Given the description of an element on the screen output the (x, y) to click on. 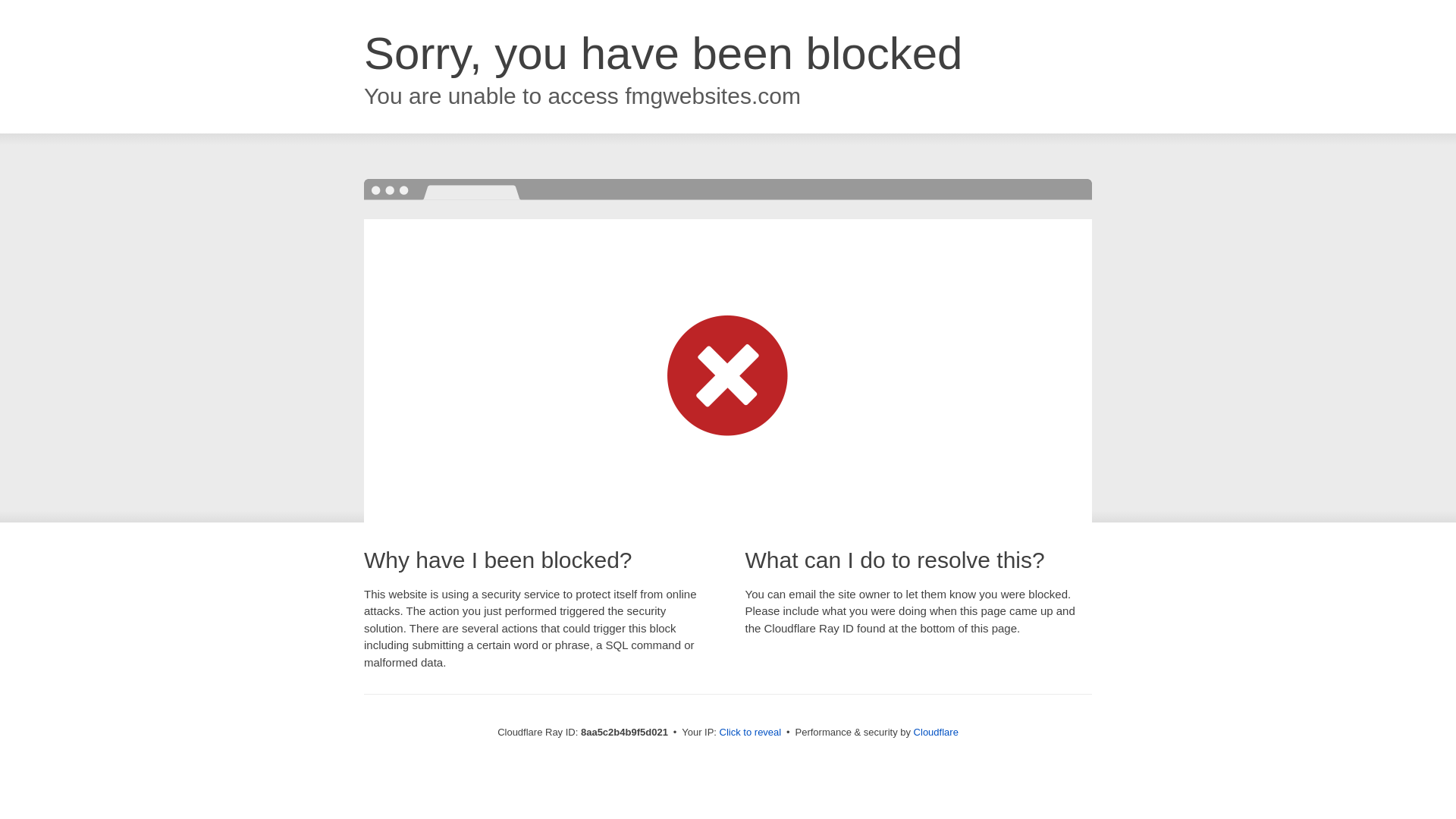
Cloudflare (936, 731)
Click to reveal (750, 732)
